Given the description of an element on the screen output the (x, y) to click on. 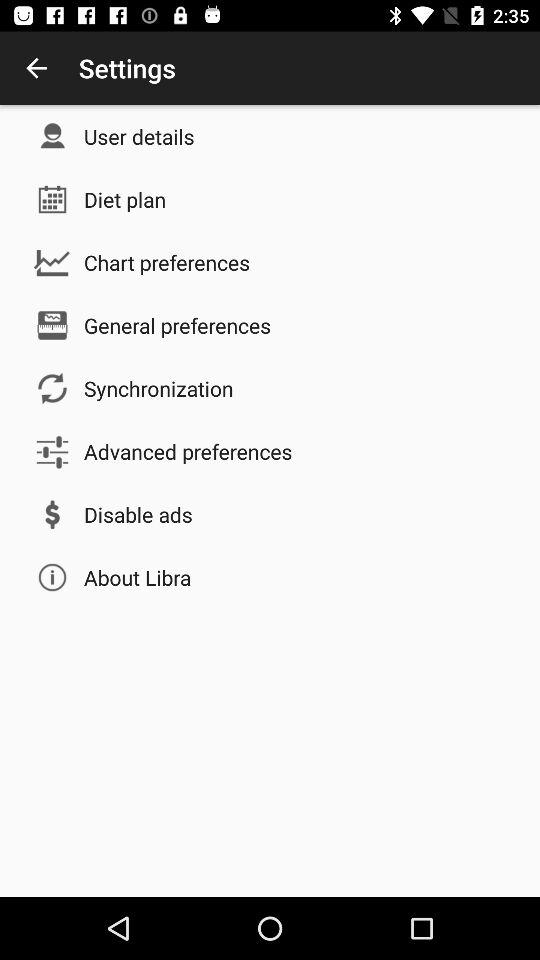
select disable ads (138, 514)
